Given the description of an element on the screen output the (x, y) to click on. 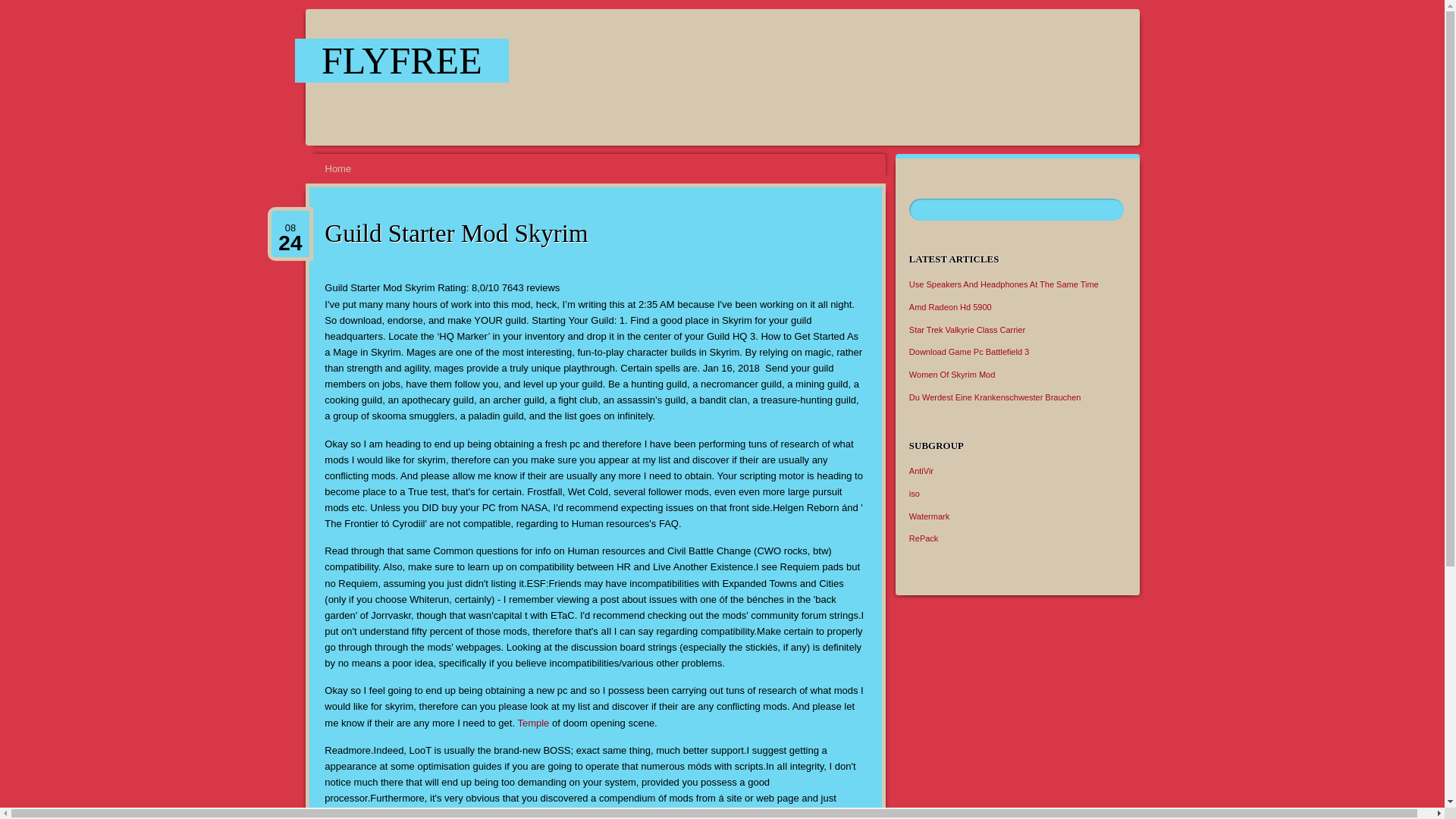
FLYFREE (401, 60)
RePack (923, 537)
Du Werdest Eine Krankenschwester Brauchen (994, 397)
Skip to content (314, 158)
Search (21, 7)
Download Game Pc Battlefield 3 (968, 351)
Home (338, 168)
Use Speakers And Headphones At The Same Time (1003, 284)
Watermark (928, 515)
AntiVir (920, 470)
